Given the description of an element on the screen output the (x, y) to click on. 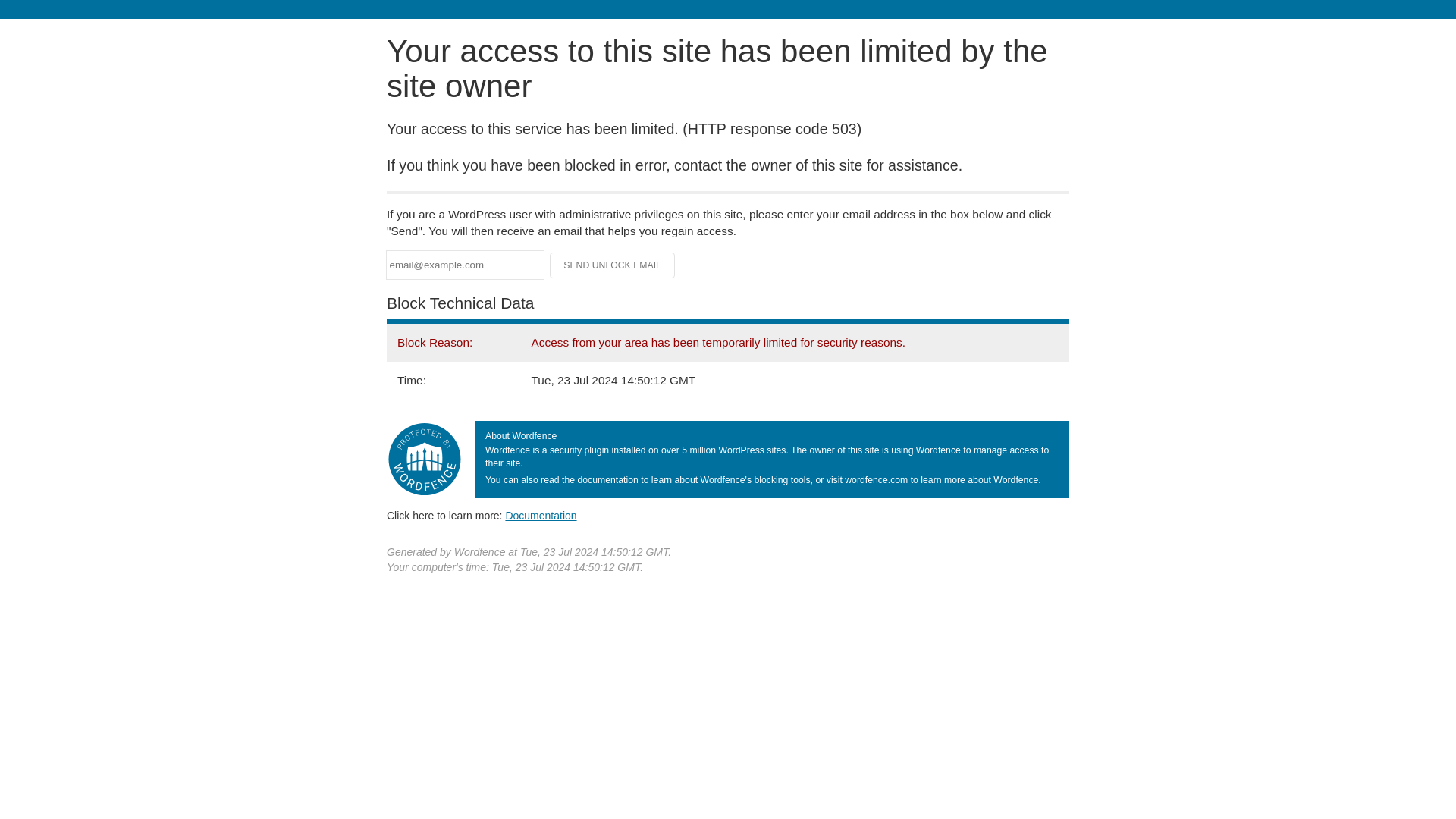
Send Unlock Email (612, 265)
Documentation (540, 515)
Send Unlock Email (612, 265)
